Given the description of an element on the screen output the (x, y) to click on. 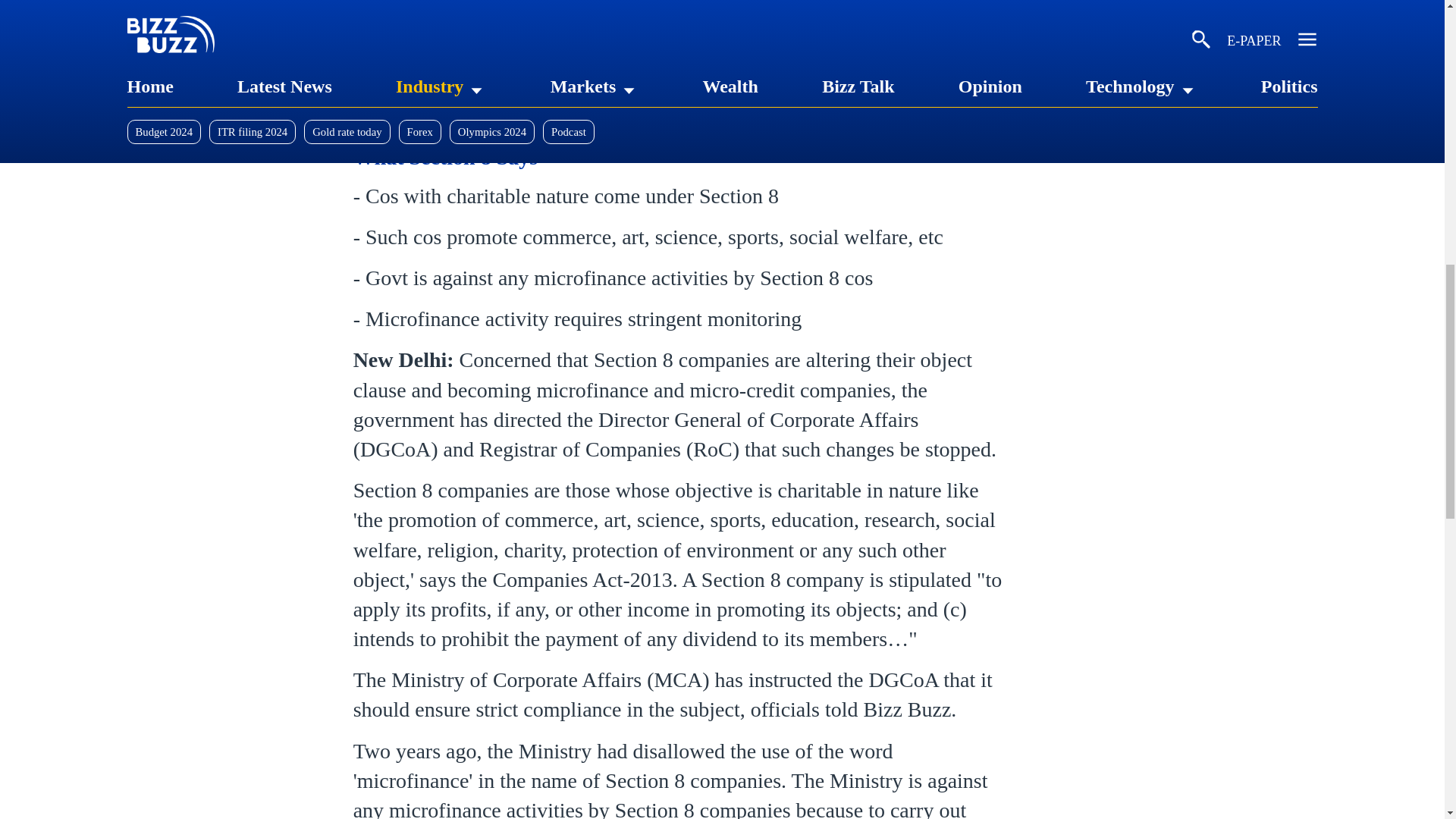
Share by Email (567, 114)
Govt bars Section 8 cos from microfinance biz (683, 6)
LinkedIn (368, 114)
